Given the description of an element on the screen output the (x, y) to click on. 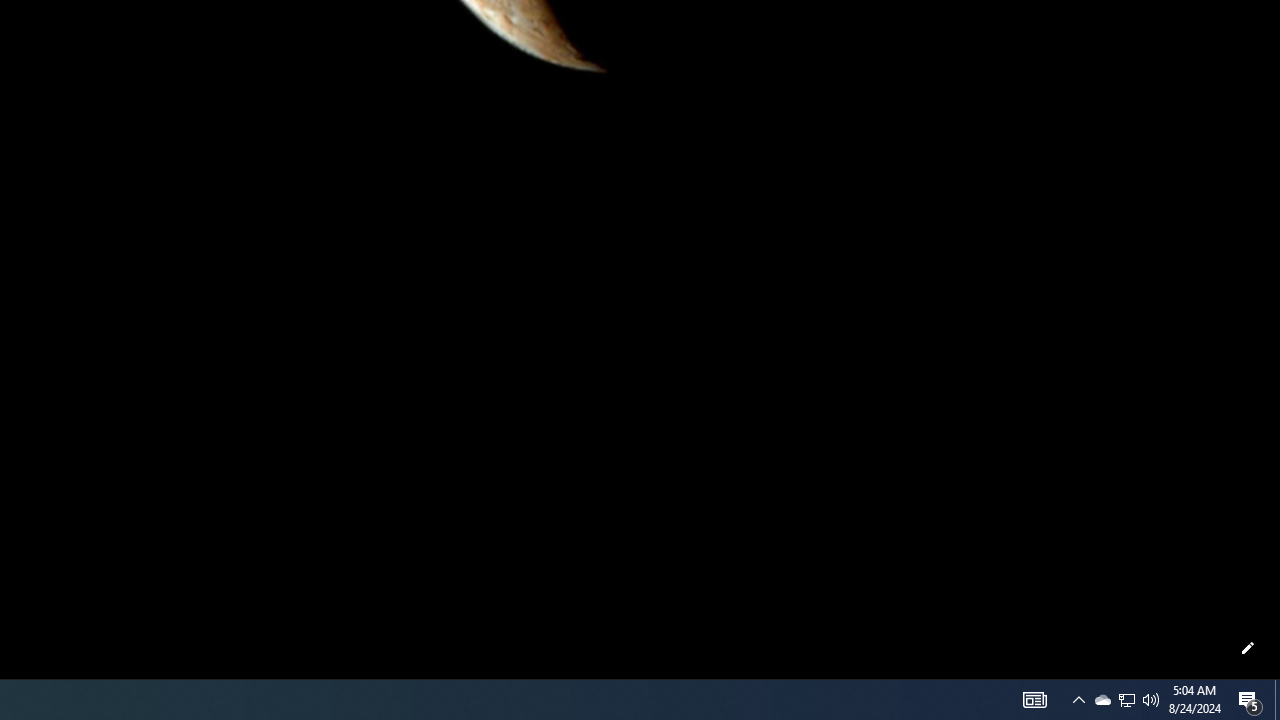
Customize this page (1247, 647)
